Given the description of an element on the screen output the (x, y) to click on. 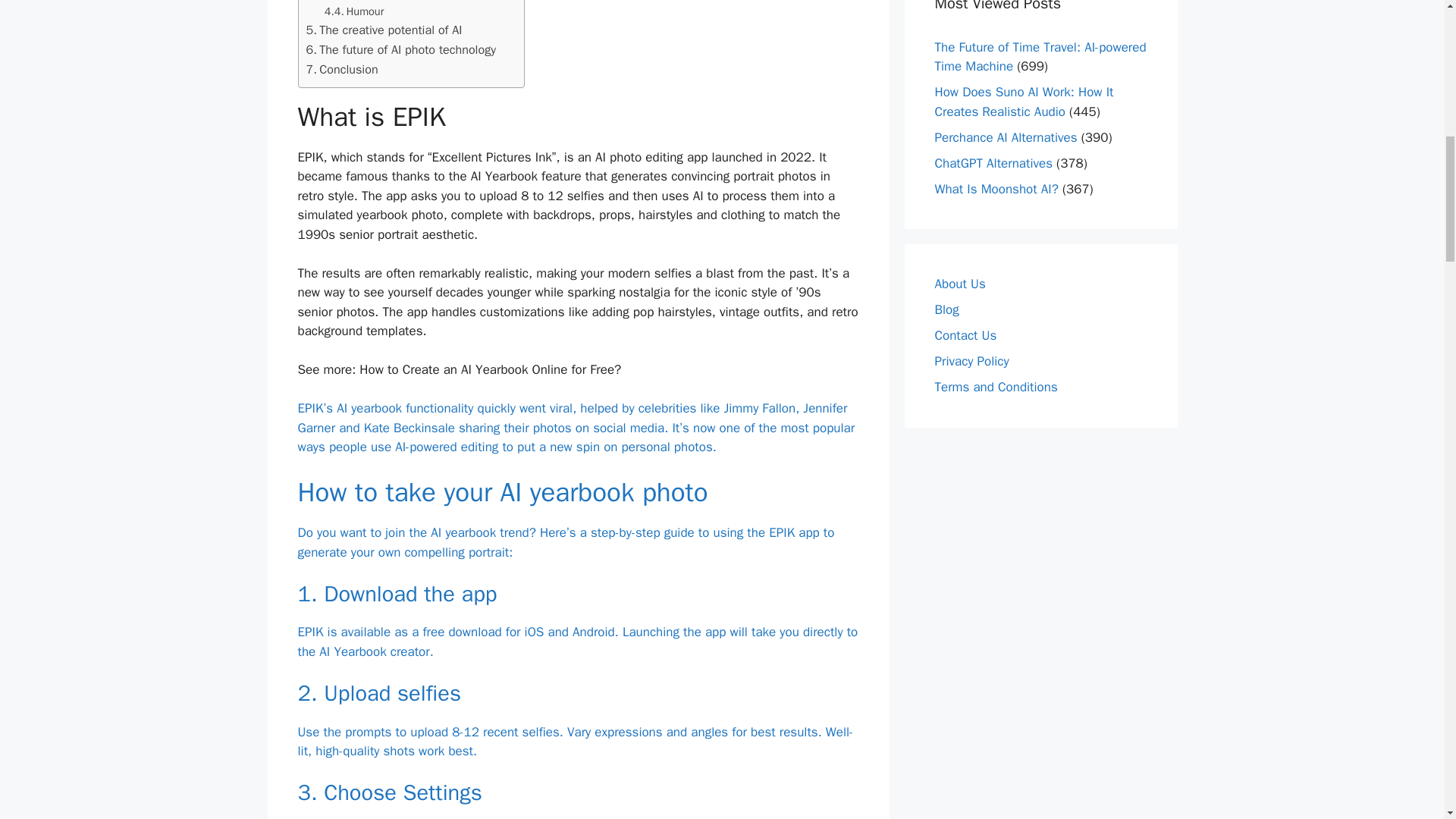
Novelty (352, 1)
Novelty (352, 1)
The creative potential of AI (384, 30)
The future of AI photo technology (400, 49)
Humour (354, 11)
Conclusion (341, 69)
Humour (354, 11)
